Given the description of an element on the screen output the (x, y) to click on. 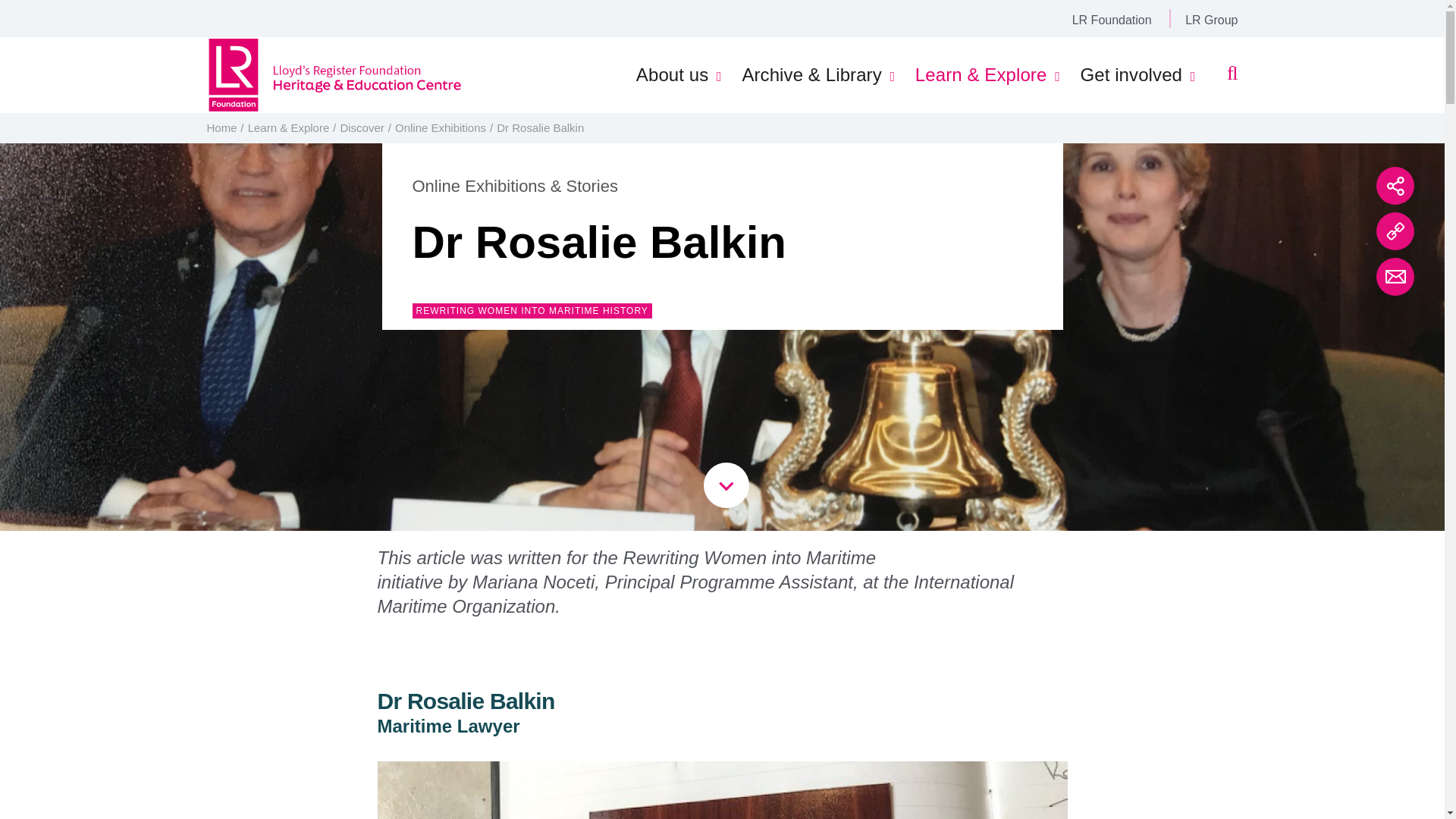
LR Group (1211, 20)
LR Group (1211, 20)
About us (672, 74)
LR Foundation (1111, 20)
LR Foundation (1111, 20)
About us  (672, 74)
